Given the description of an element on the screen output the (x, y) to click on. 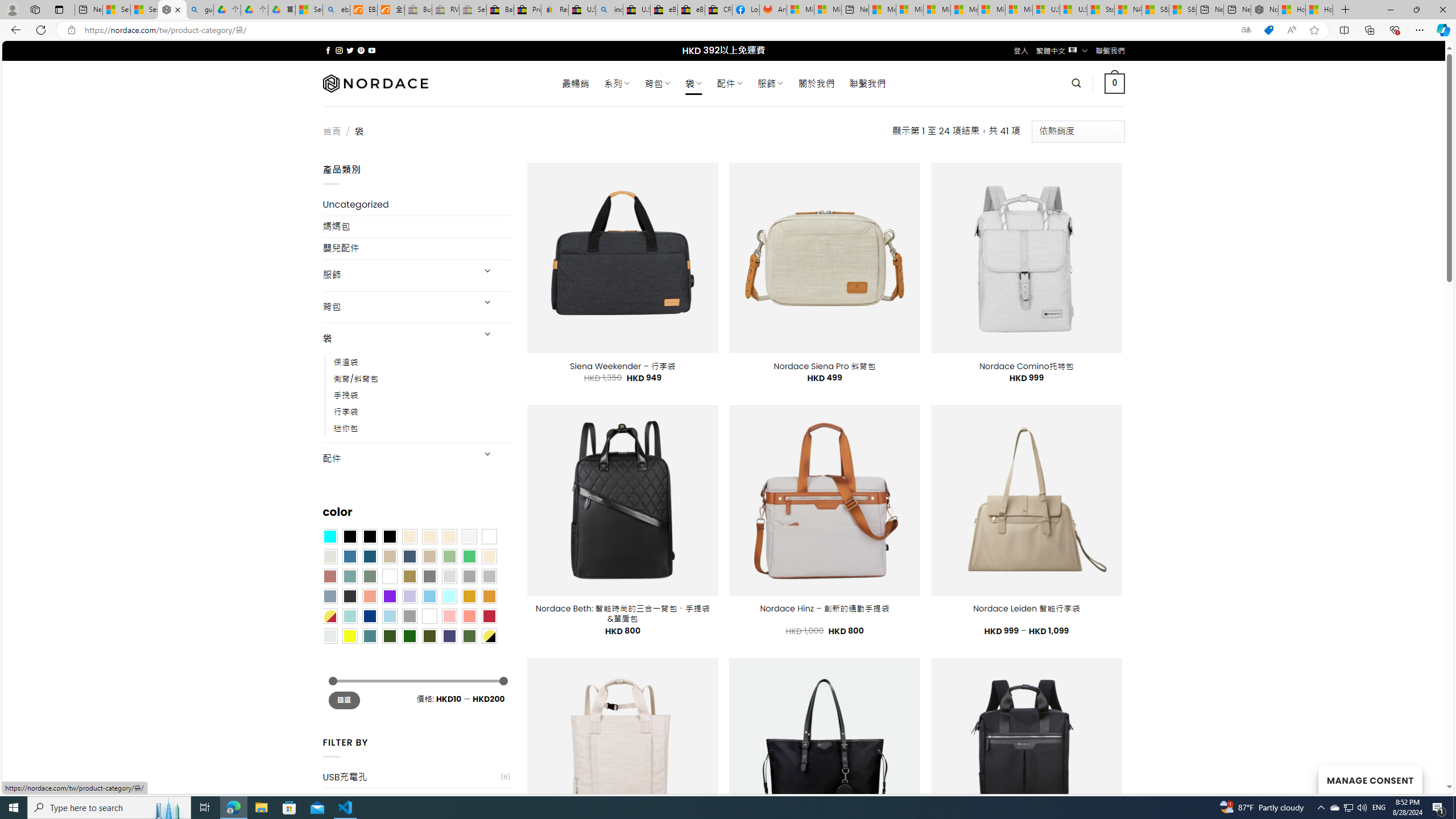
App bar (728, 29)
